Given the description of an element on the screen output the (x, y) to click on. 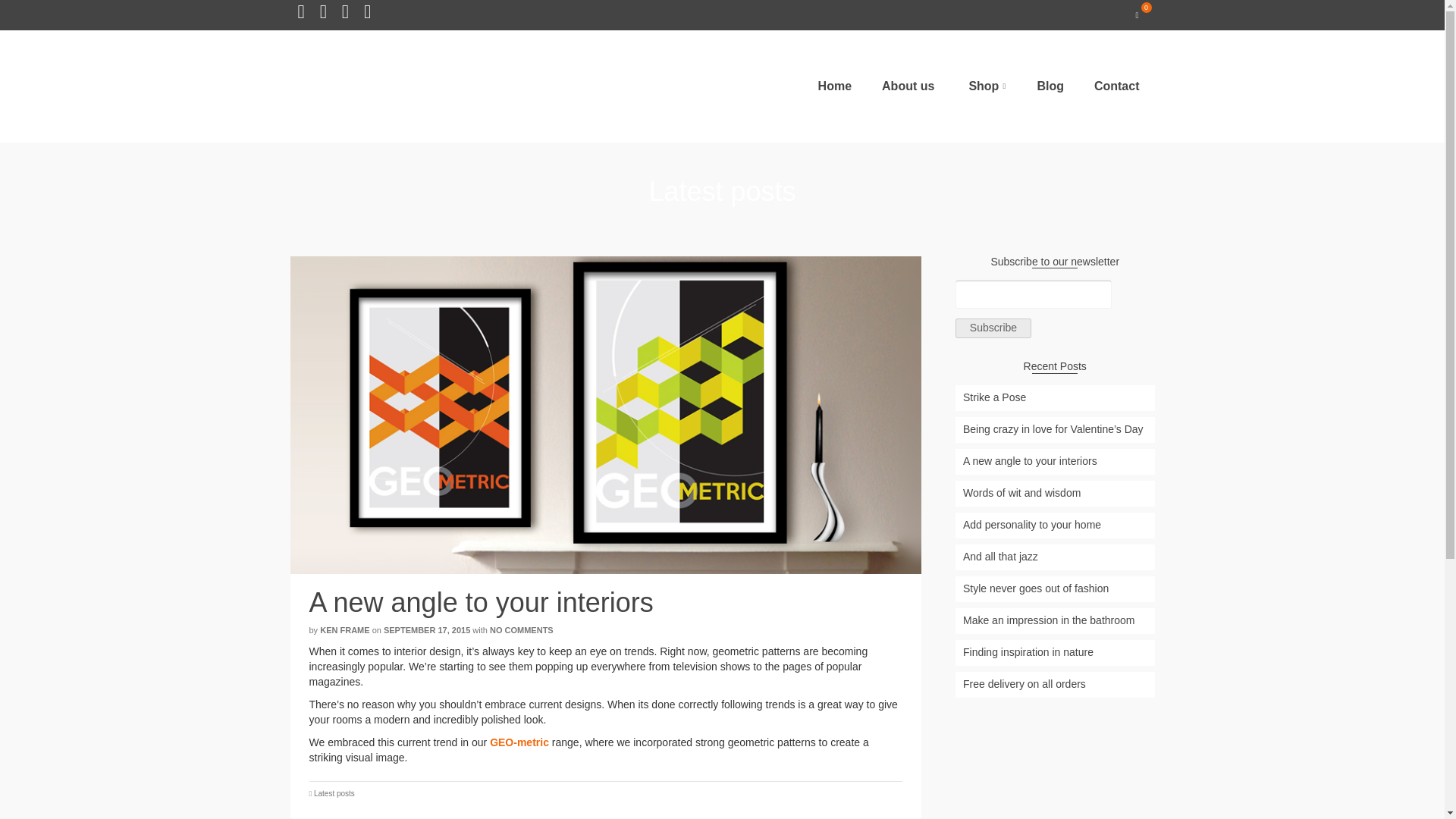
GEO-metric (518, 742)
Style never goes out of fashion (1054, 588)
KEN FRAME (344, 629)
Free delivery on all orders (1054, 684)
Latest posts (334, 793)
A new angle to your interiors (1054, 461)
Subscribe (992, 328)
Finding inspiration in nature (1054, 652)
Strike a Pose (1054, 397)
Words of wit and wisdom (1054, 493)
Make an impression in the bathroom (1054, 620)
And all that jazz (1054, 557)
NO COMMENTS (521, 629)
Add personality to your home (1054, 525)
Subscribe (992, 328)
